Given the description of an element on the screen output the (x, y) to click on. 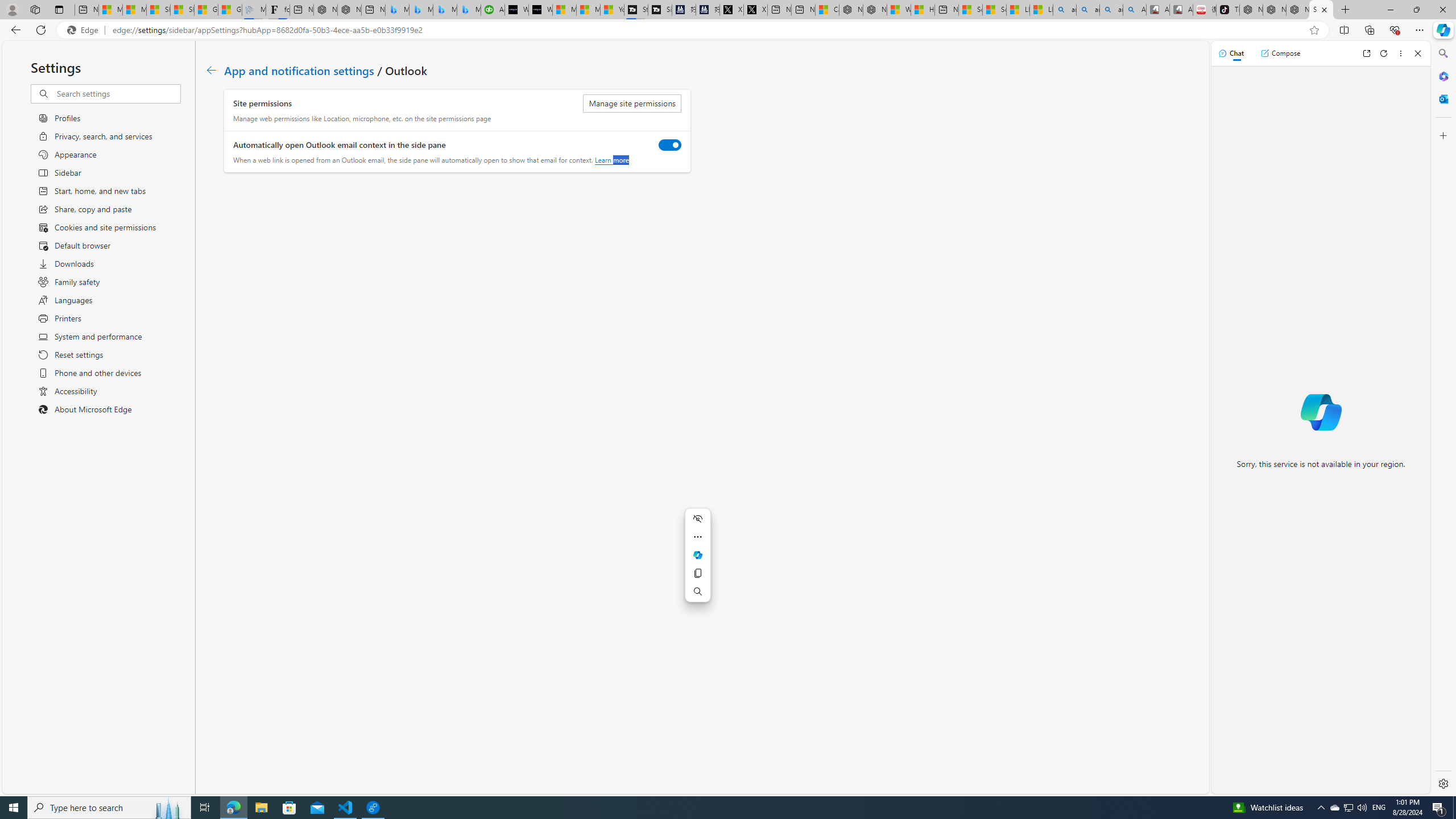
Amazon Echo Robot - Search Images (1134, 9)
Nordace - Siena Pro 15 Essential Set (1297, 9)
Mini menu on text selection (697, 561)
Microsoft Bing Travel - Stays in Bangkok, Bangkok, Thailand (421, 9)
Go back to App and notification settings page. (210, 70)
Copy (697, 573)
Edge (84, 29)
